Given the description of an element on the screen output the (x, y) to click on. 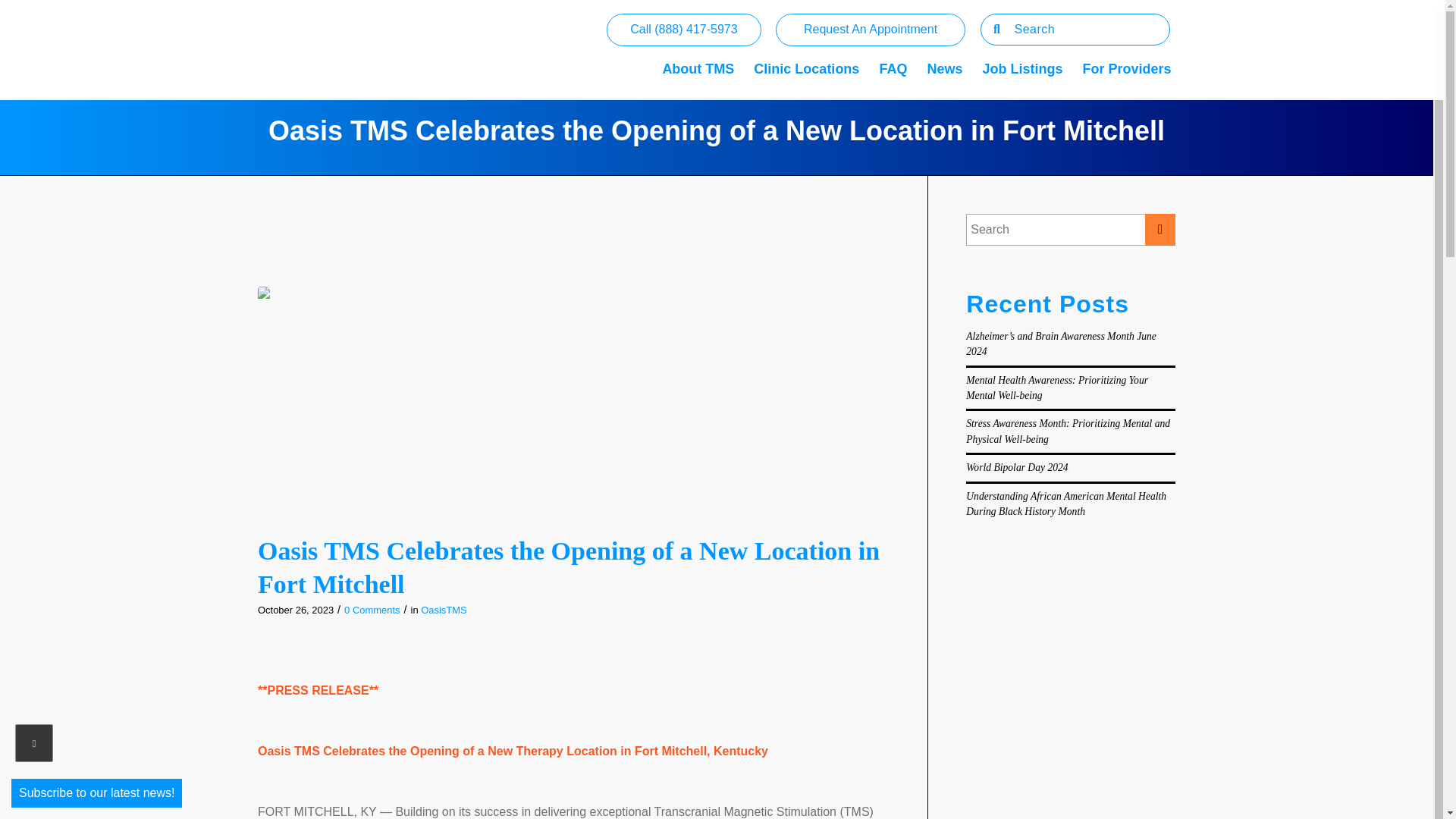
Clinic Locations (806, 49)
About TMS (698, 49)
Job Listings (1021, 49)
